Given the description of an element on the screen output the (x, y) to click on. 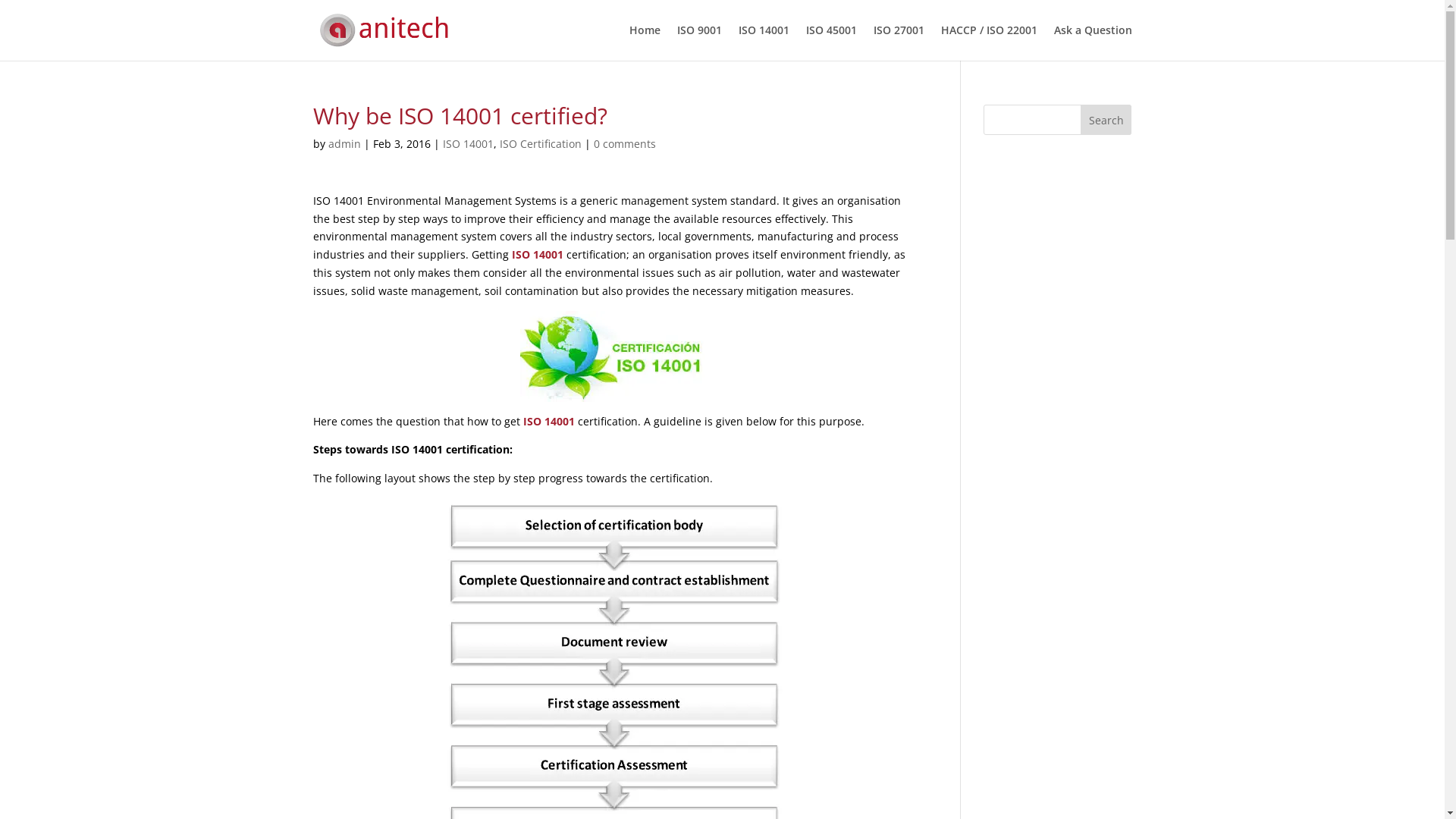
ISO 14001 Element type: text (467, 143)
0 comments Element type: text (624, 143)
ISO Certification Element type: text (539, 143)
ISO 14001 Element type: text (763, 42)
ISO 14001 Element type: text (538, 254)
Search Element type: text (1106, 119)
HACCP / ISO 22001 Element type: text (988, 42)
admin Element type: text (343, 143)
ISO 9001 Element type: text (698, 42)
ISO 27001 Element type: text (898, 42)
Ask a Question Element type: text (1093, 42)
ISO 14001 Element type: text (548, 421)
Home Element type: text (644, 42)
ISO 45001 Element type: text (830, 42)
